Given the description of an element on the screen output the (x, y) to click on. 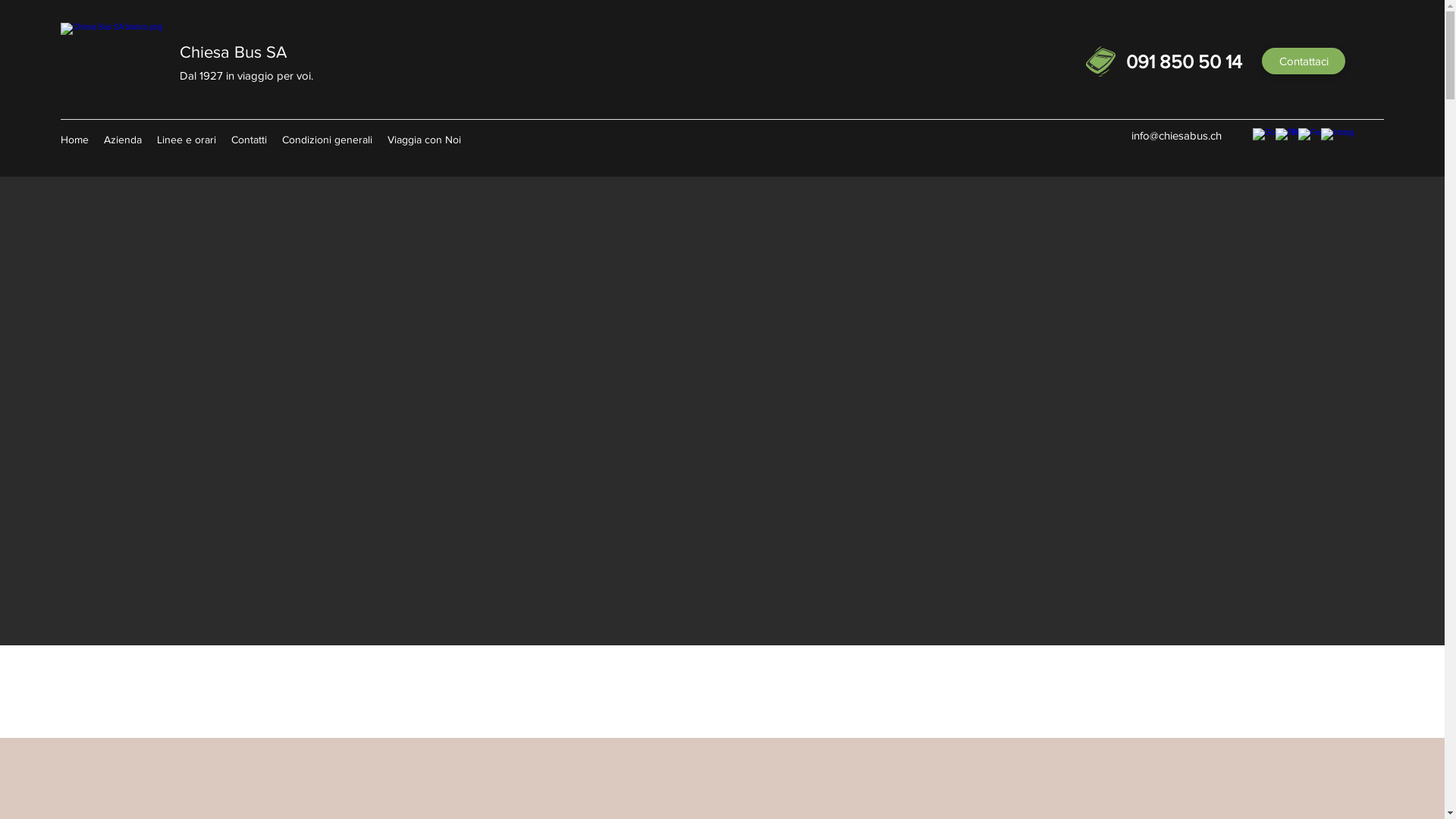
Condizioni generali Element type: text (326, 139)
Chiesa Bus SA Element type: text (232, 51)
Viaggia con Noi Element type: text (423, 139)
Home Element type: text (74, 139)
Linee e orari Element type: text (186, 139)
info@chiesabus.ch Element type: text (1176, 134)
Contattaci Element type: text (1303, 60)
Contatti Element type: text (248, 139)
